Given the description of an element on the screen output the (x, y) to click on. 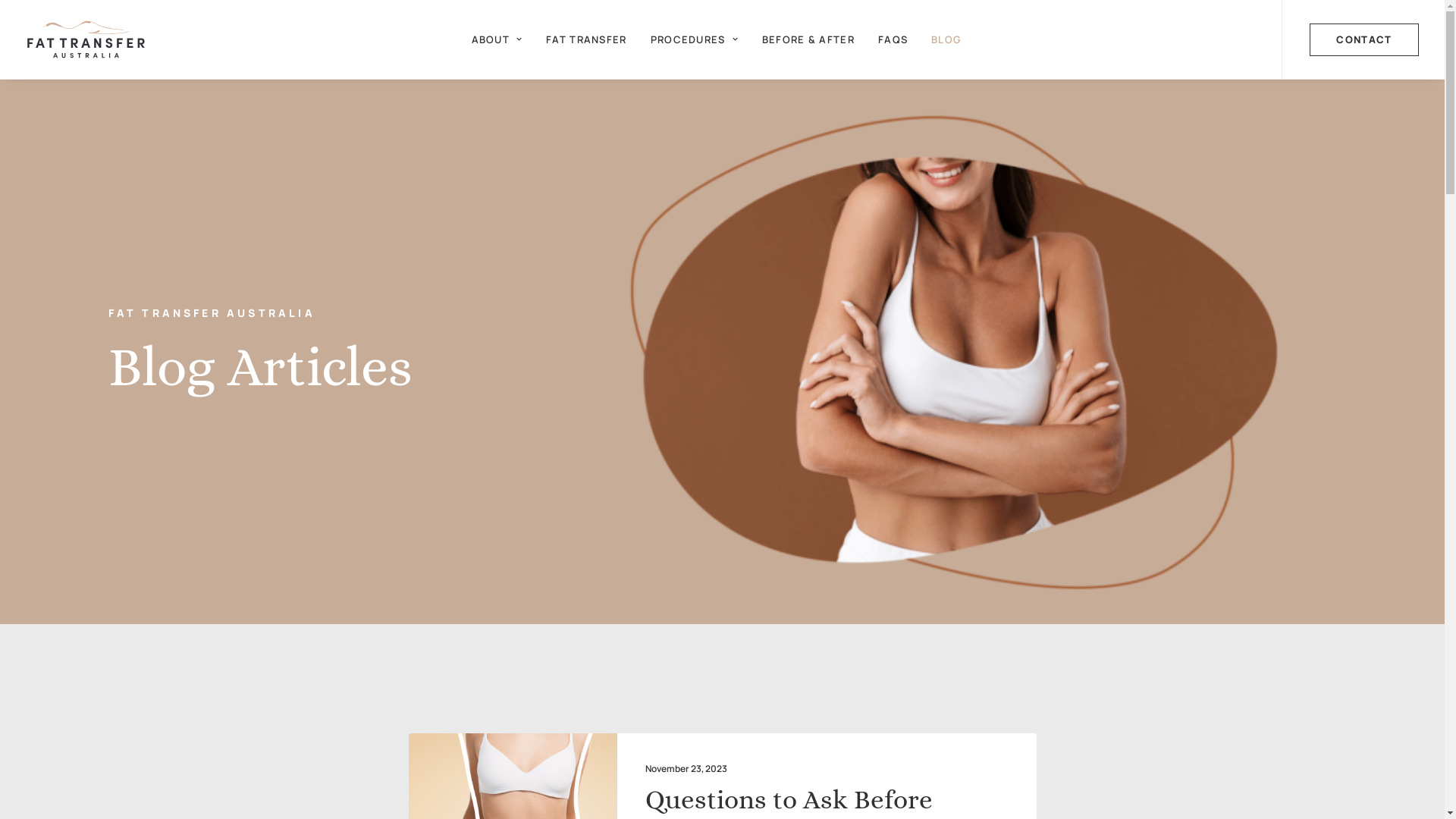
ABOUT Element type: text (497, 39)
PROCEDURES Element type: text (694, 39)
BLOG Element type: text (945, 39)
FAT TRANSFER Element type: text (586, 39)
FAQS Element type: text (892, 39)
BEFORE & AFTER Element type: text (808, 39)
CONTACT Element type: text (1363, 38)
